Given the description of an element on the screen output the (x, y) to click on. 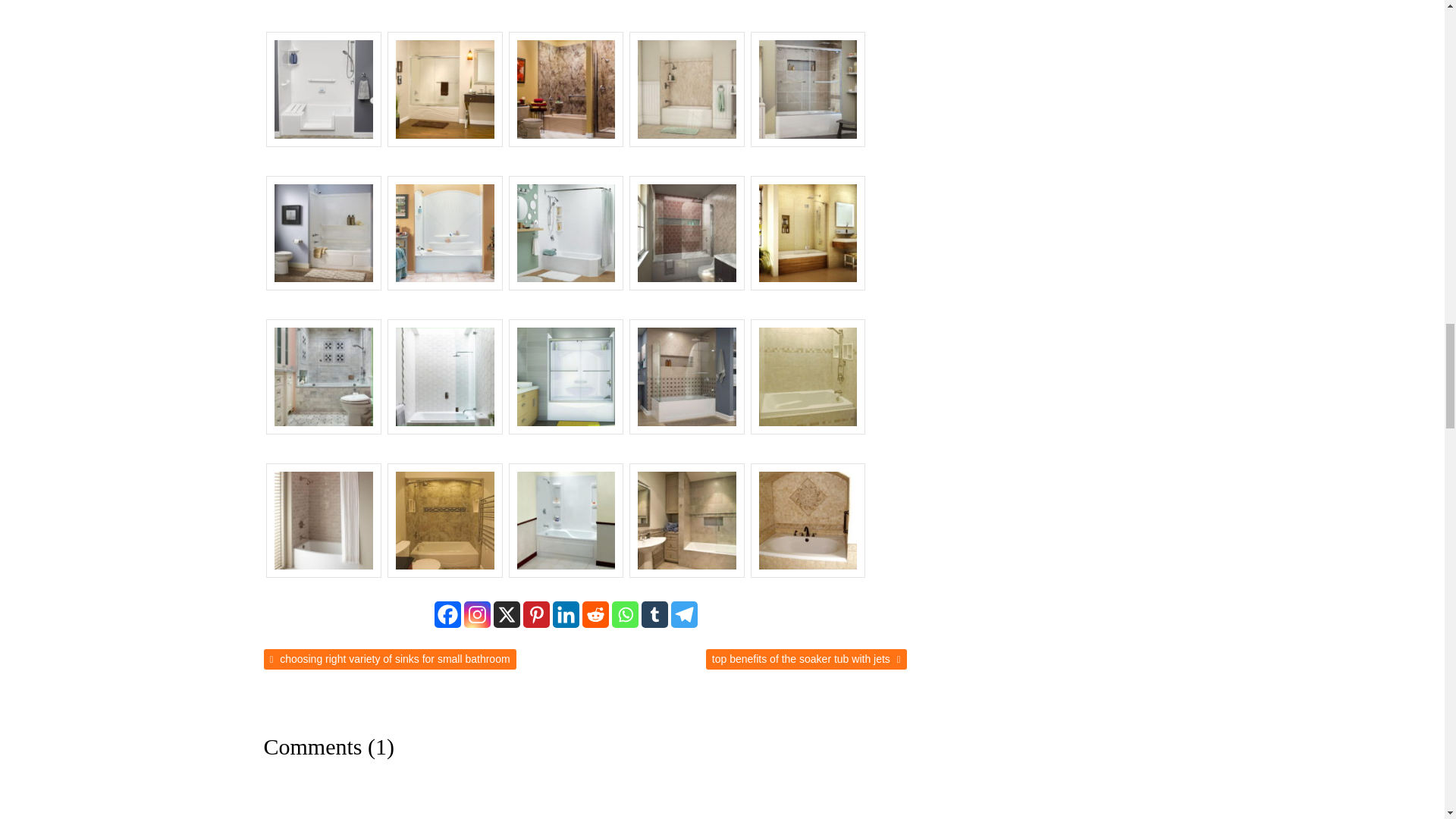
Instagram (477, 614)
Whatsapp (625, 614)
Facebook (447, 614)
X (506, 614)
Linkedin (566, 614)
Reddit (595, 614)
Telegram (684, 614)
Tumblr (655, 614)
Pinterest (536, 614)
